Given the description of an element on the screen output the (x, y) to click on. 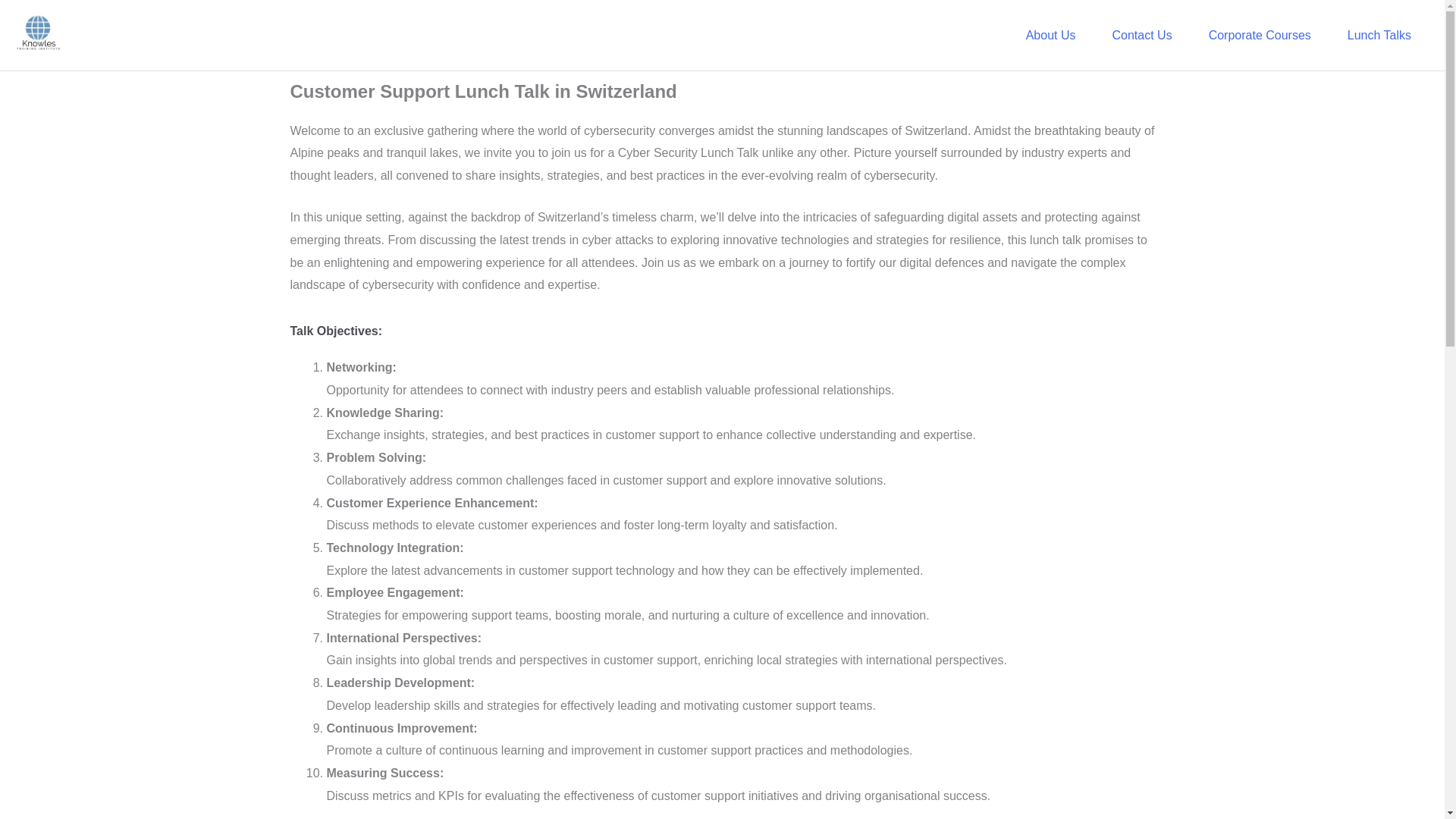
Lunch Talks (1379, 34)
Contact Us (1141, 34)
About Us (1050, 34)
Corporate Courses (1260, 34)
